Given the description of an element on the screen output the (x, y) to click on. 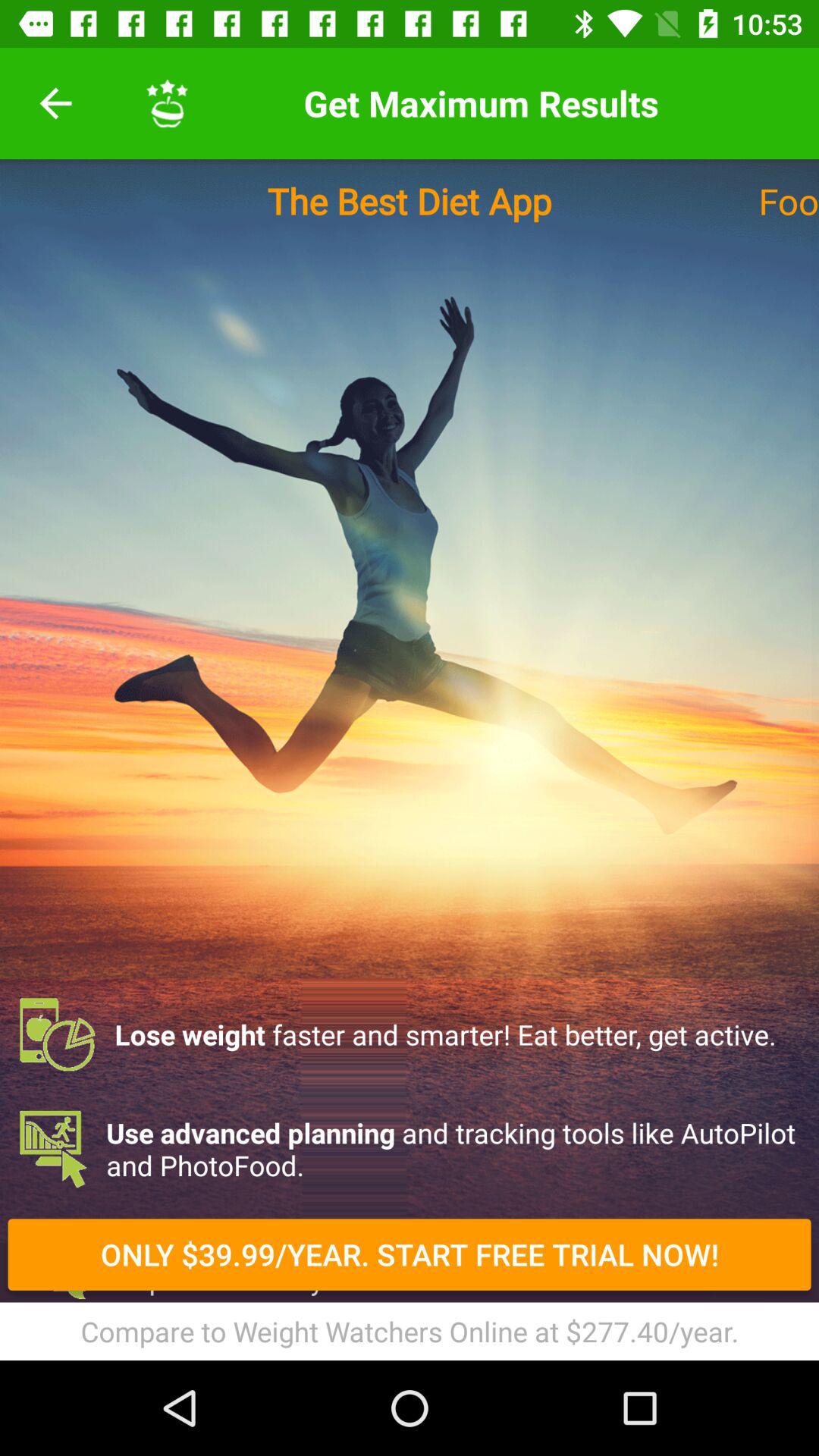
turn off compare to weight icon (409, 1331)
